Given the description of an element on the screen output the (x, y) to click on. 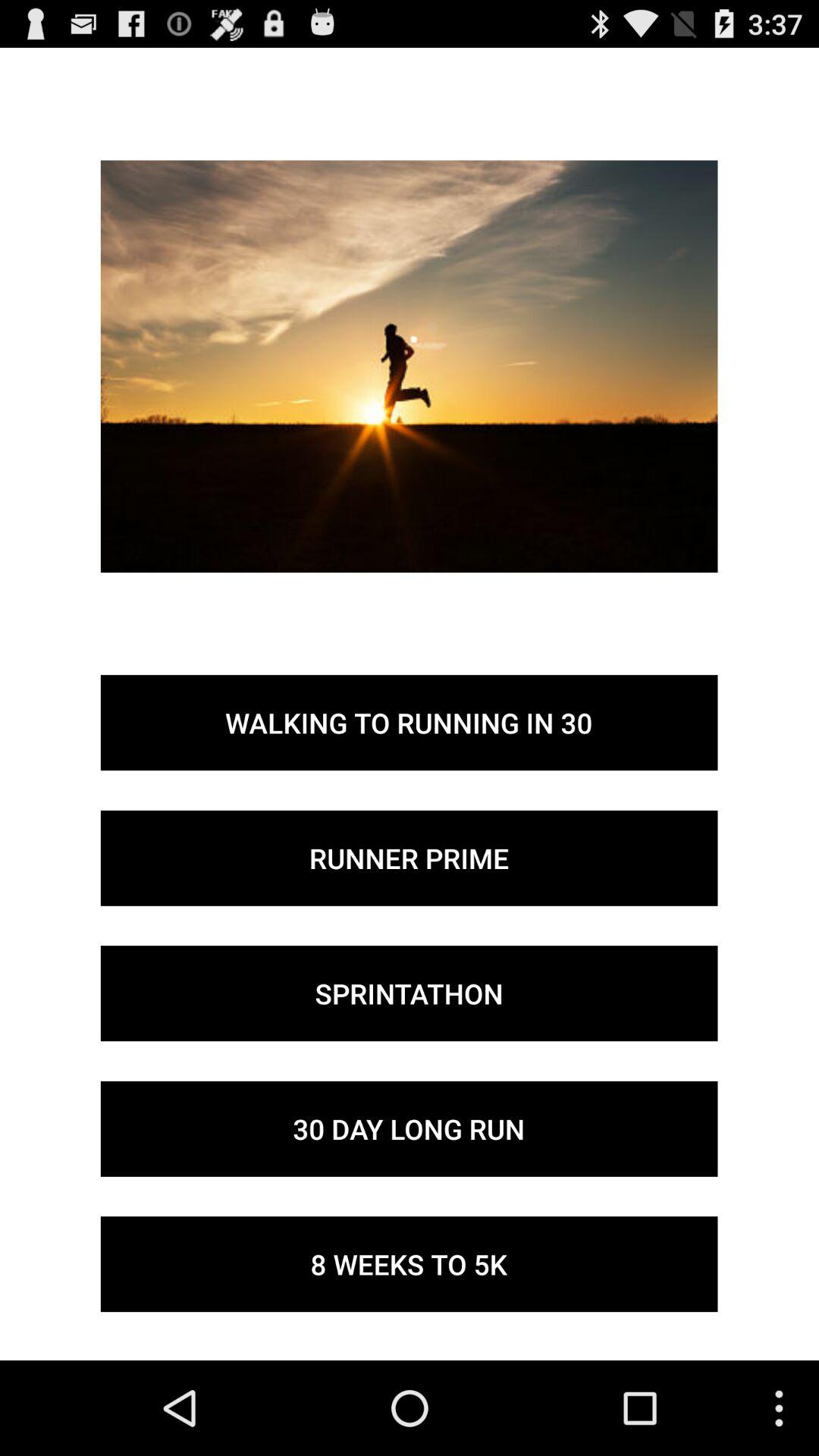
choose the icon above 30 day long icon (408, 993)
